Given the description of an element on the screen output the (x, y) to click on. 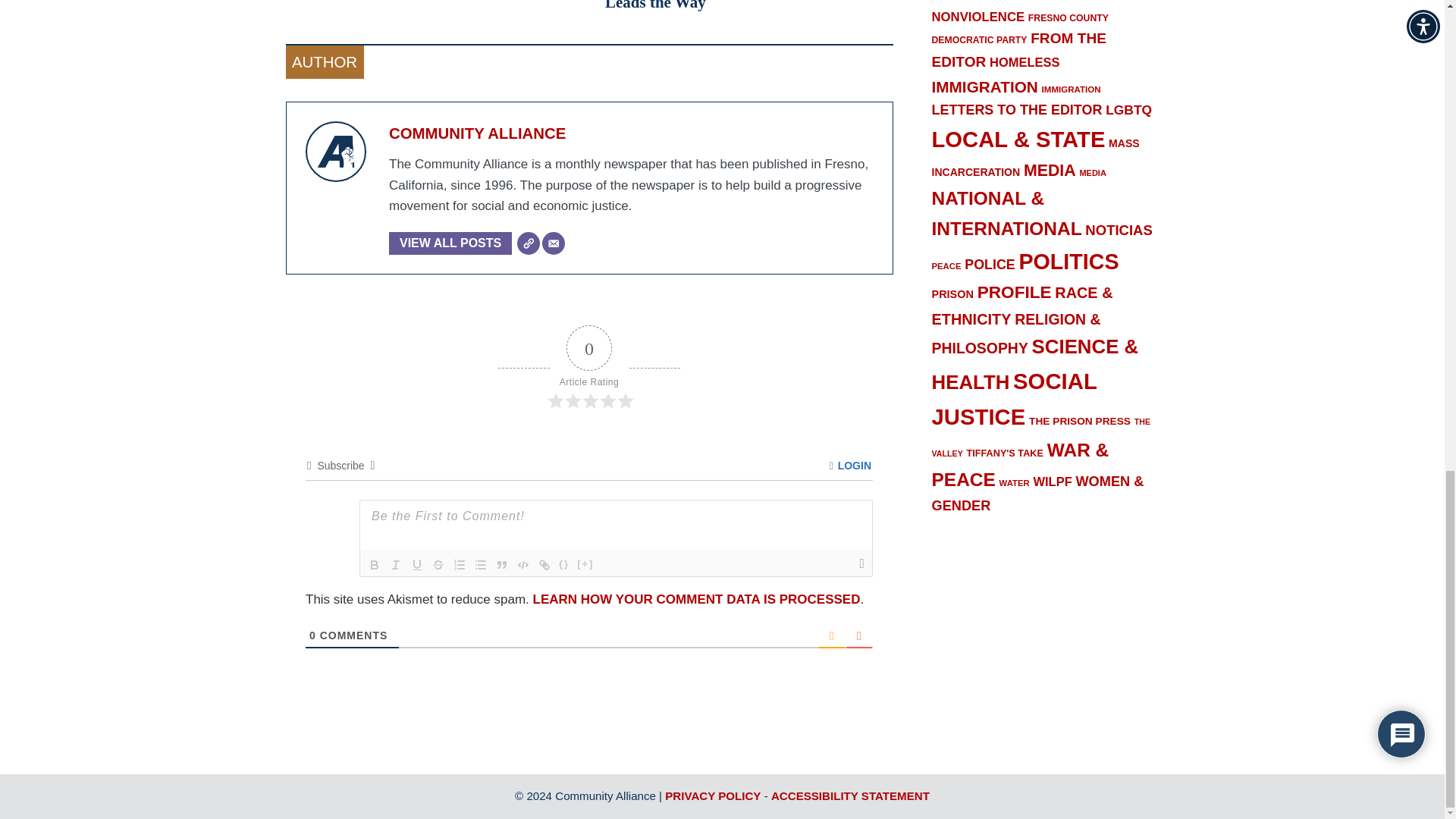
Blockquote (502, 565)
Strike (438, 565)
Unordered List (481, 565)
Community Alliance (477, 133)
Code Block (523, 565)
Underline (417, 565)
COMMUNITY ALLIANCE (477, 133)
VIEW ALL POSTS (450, 242)
Ordered List (459, 565)
Italic (395, 565)
LOGIN (849, 465)
View all posts (450, 242)
Bold (374, 565)
Link (544, 565)
